Given the description of an element on the screen output the (x, y) to click on. 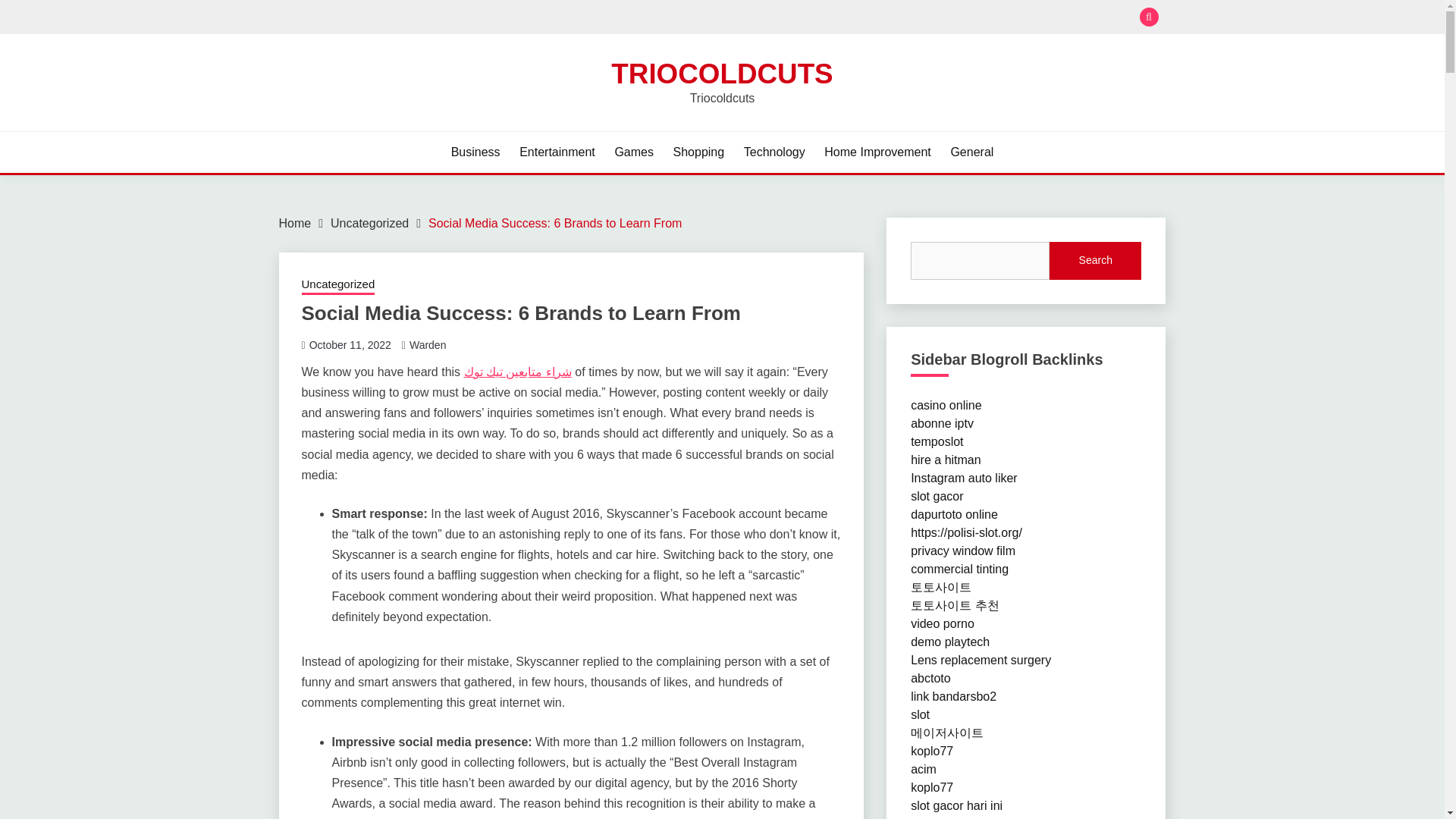
abonne iptv (942, 422)
General (971, 152)
Social Media Success: 6 Brands to Learn From (554, 223)
Shopping (698, 152)
Business (475, 152)
Entertainment (557, 152)
Search (832, 18)
Home (295, 223)
Warden (427, 345)
Games (633, 152)
